Given the description of an element on the screen output the (x, y) to click on. 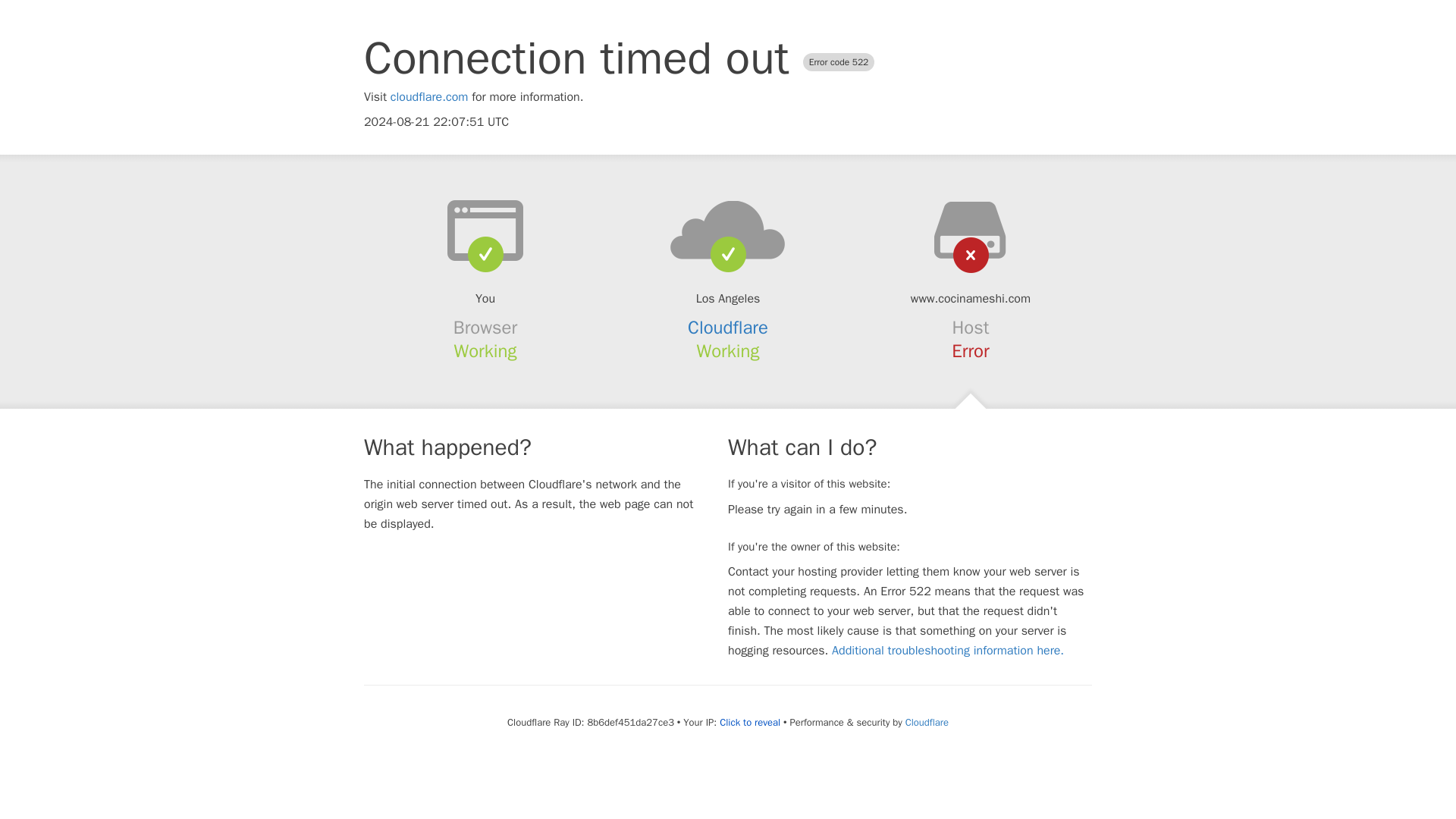
Cloudflare (927, 721)
cloudflare.com (429, 96)
Click to reveal (749, 722)
Cloudflare (727, 327)
Additional troubleshooting information here. (947, 650)
